Given the description of an element on the screen output the (x, y) to click on. 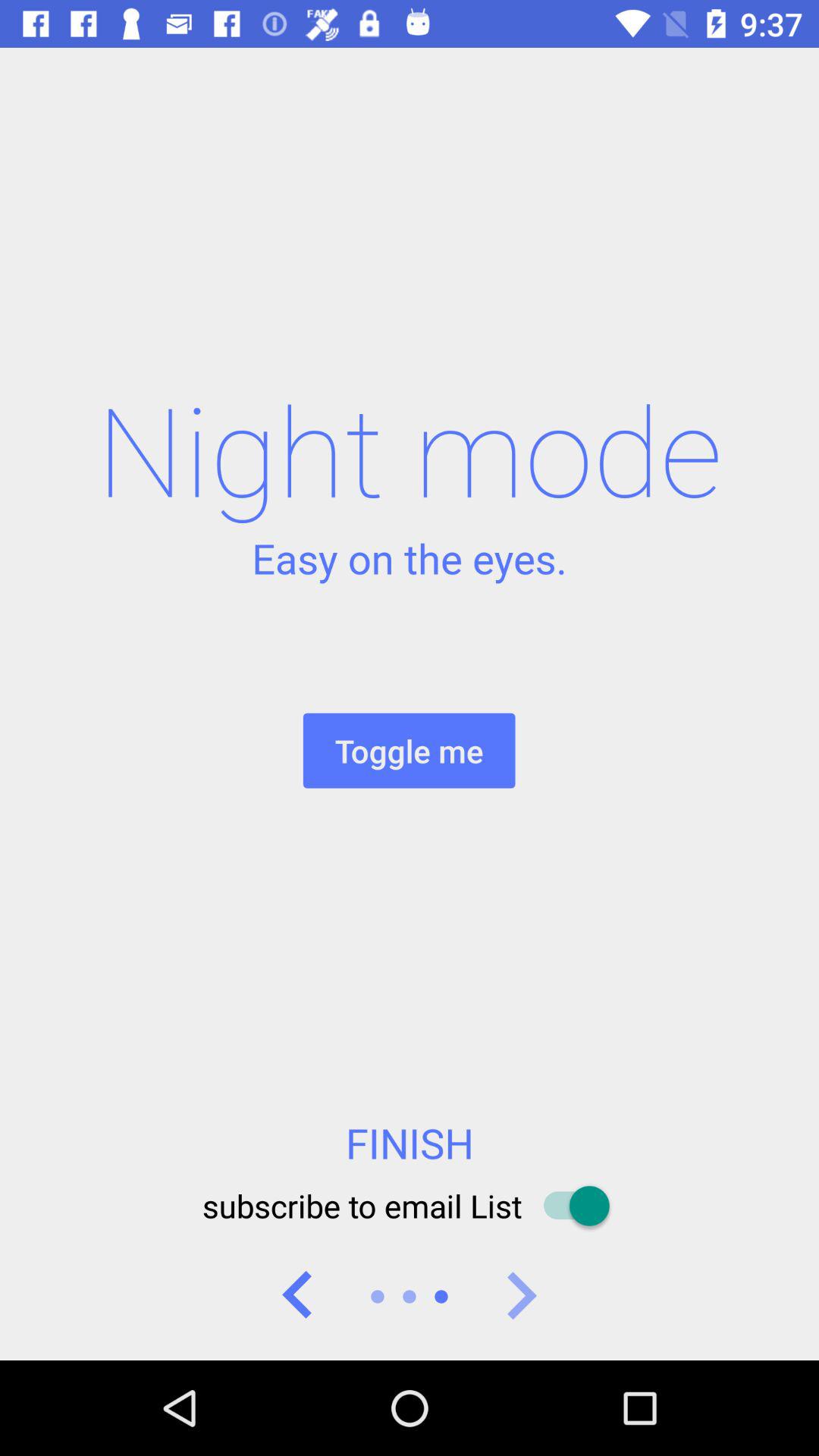
select the finish icon (409, 1143)
